Given the description of an element on the screen output the (x, y) to click on. 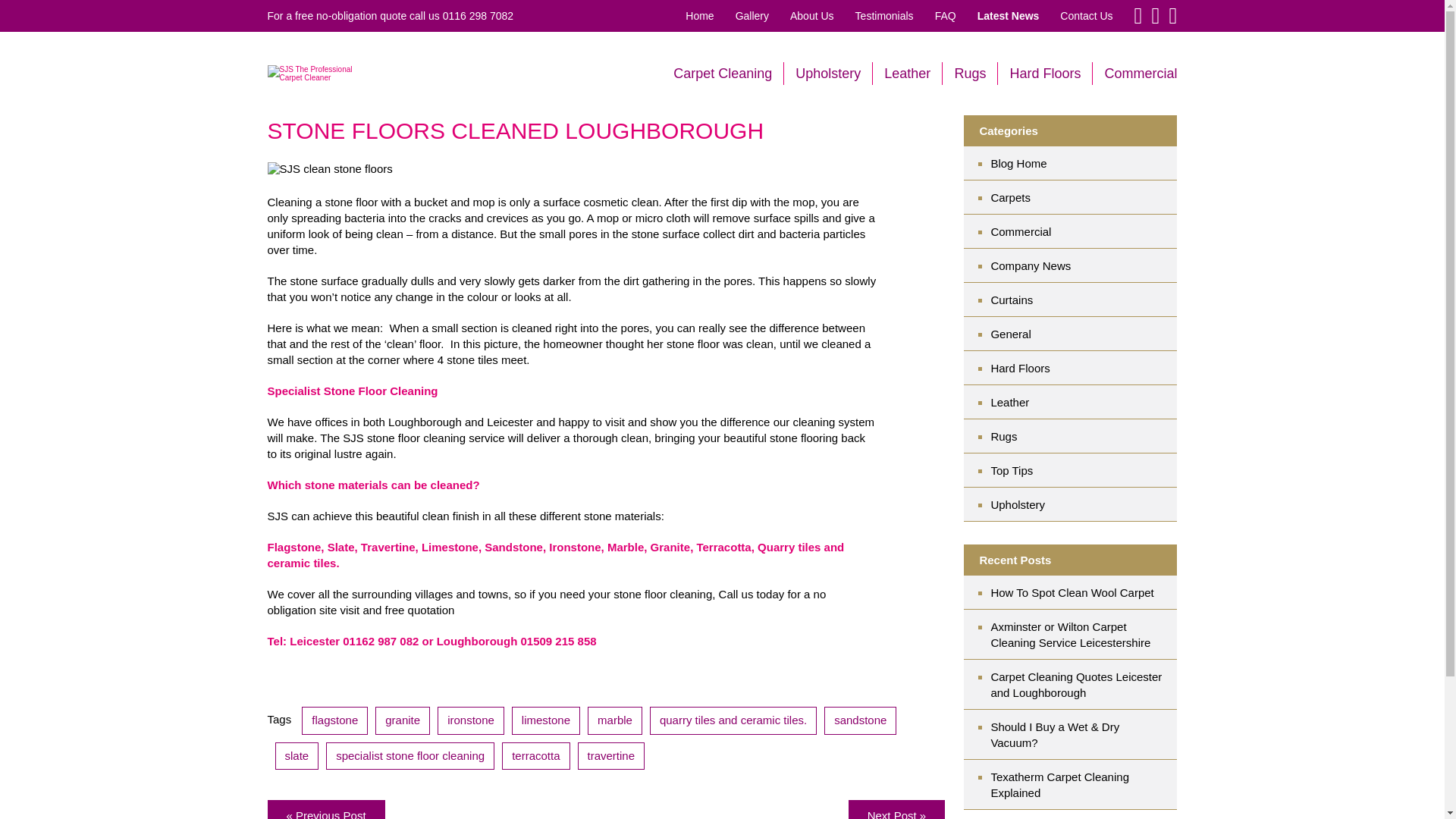
ironstone (470, 720)
Upholstery (827, 73)
flagstone (334, 720)
travertine (611, 755)
Carpet Cleaning (721, 73)
About Us (812, 15)
Commercial (1083, 231)
Hard Floors (1044, 73)
Blog Home (1083, 163)
Contact Us (1085, 15)
